Given the description of an element on the screen output the (x, y) to click on. 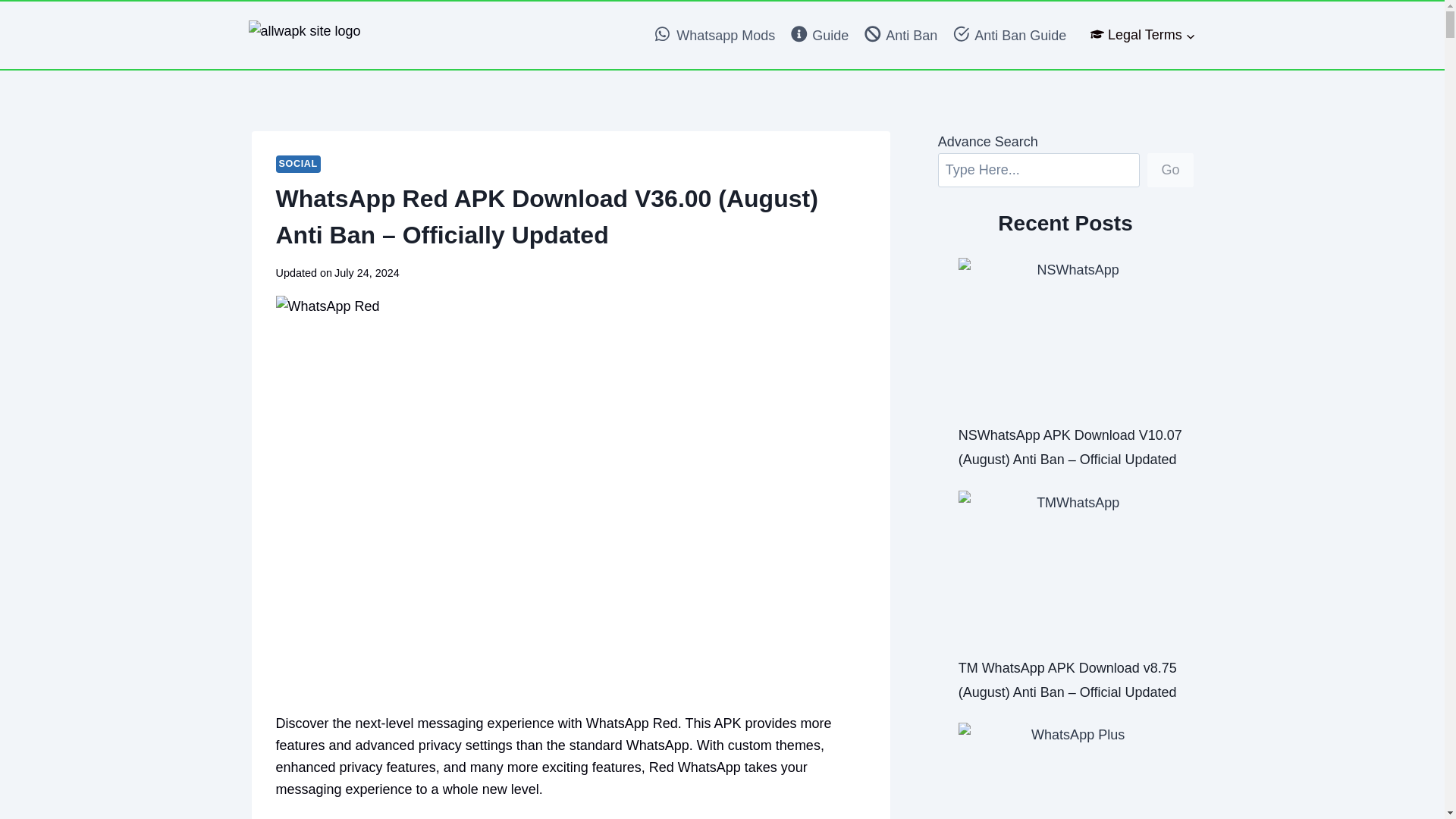
Anti Ban (900, 34)
SOCIAL (298, 163)
Legal Terms (1142, 34)
Anti Ban Guide (1009, 34)
Whatsapp Mods (715, 34)
Guide (820, 34)
